Given the description of an element on the screen output the (x, y) to click on. 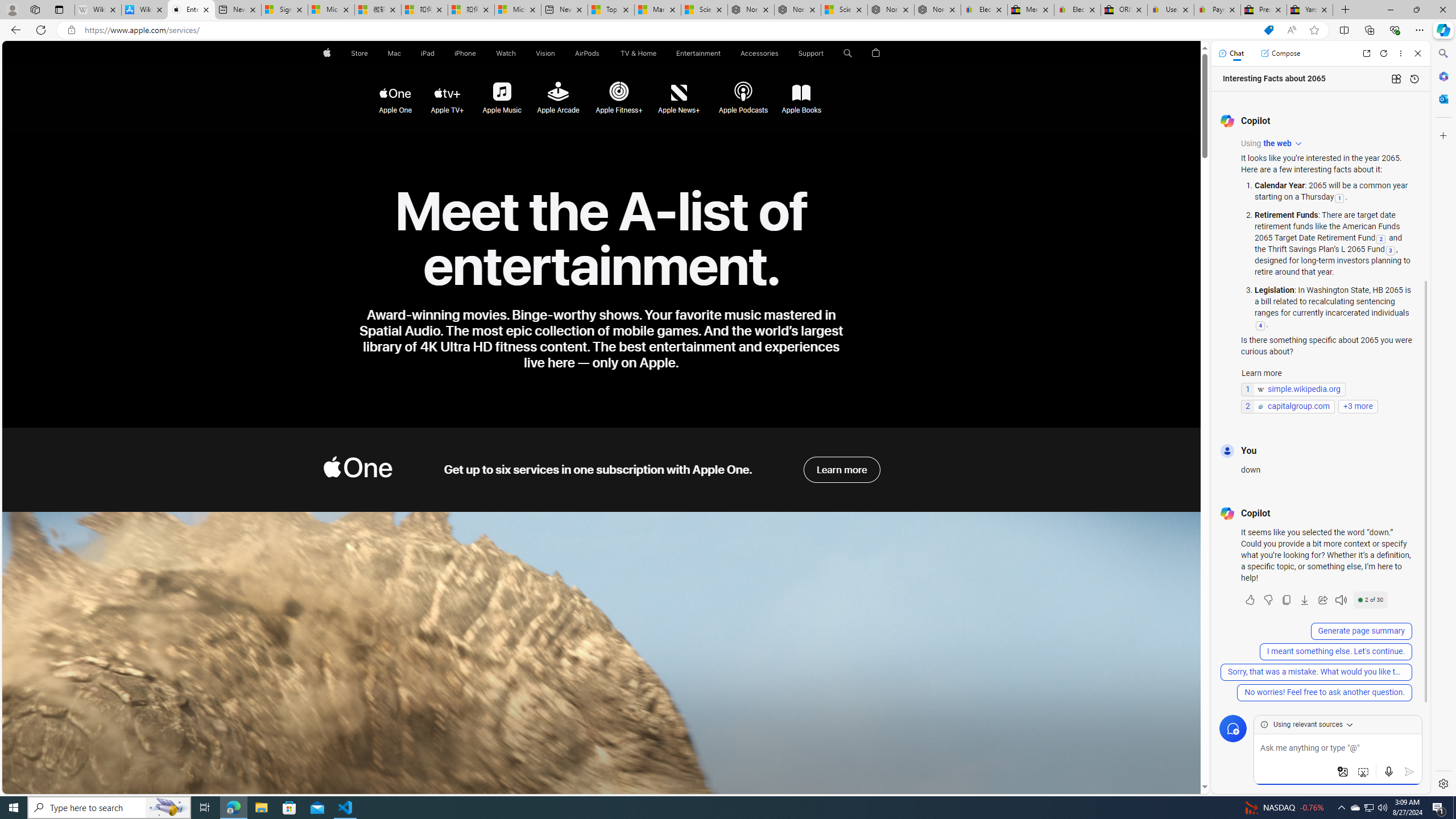
TV and Home (637, 53)
AirPods menu (601, 53)
Vision (545, 53)
Apple News+ (679, 93)
Watch menu (518, 53)
iPhone menu (477, 53)
learn more about apple one (841, 470)
Accessories menu (780, 53)
Nordace - FAQ (937, 9)
